Given the description of an element on the screen output the (x, y) to click on. 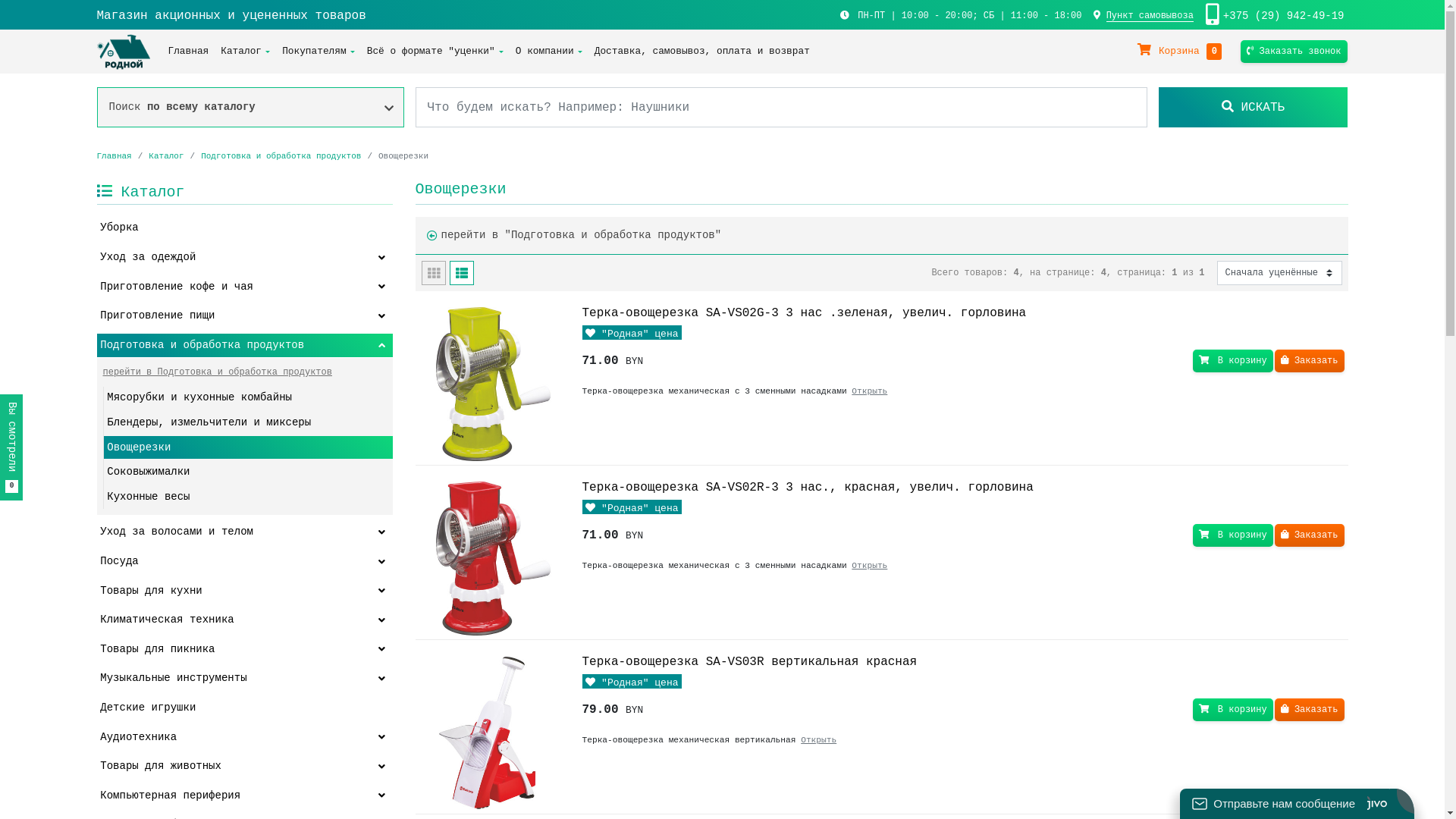
+375 (29) 942-49-19 Element type: text (1283, 15)
Rodnoy.by Element type: hover (123, 51)
